Given the description of an element on the screen output the (x, y) to click on. 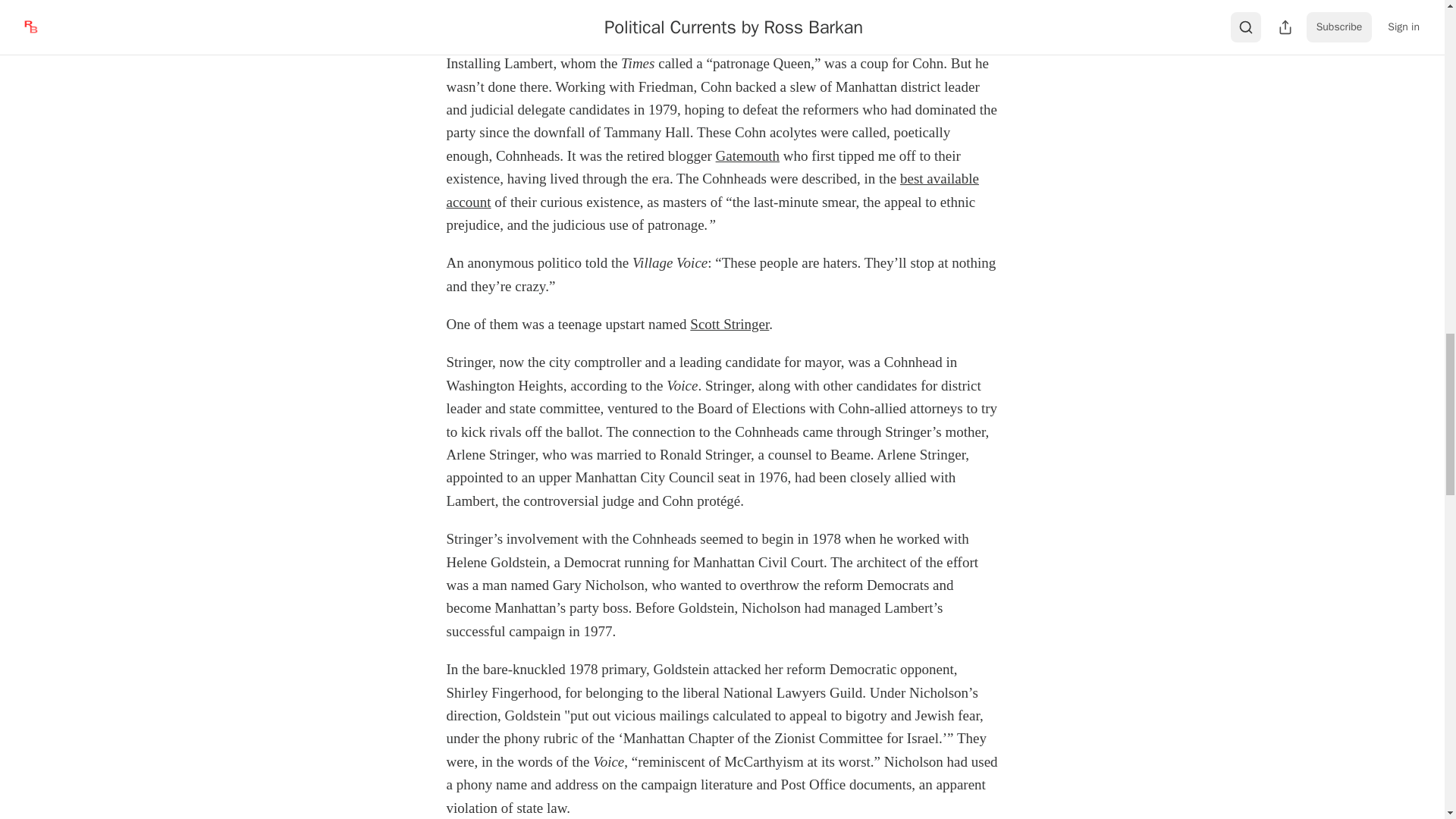
best available account (711, 189)
Scott Stringer (729, 324)
Gatemouth (747, 155)
